Given the description of an element on the screen output the (x, y) to click on. 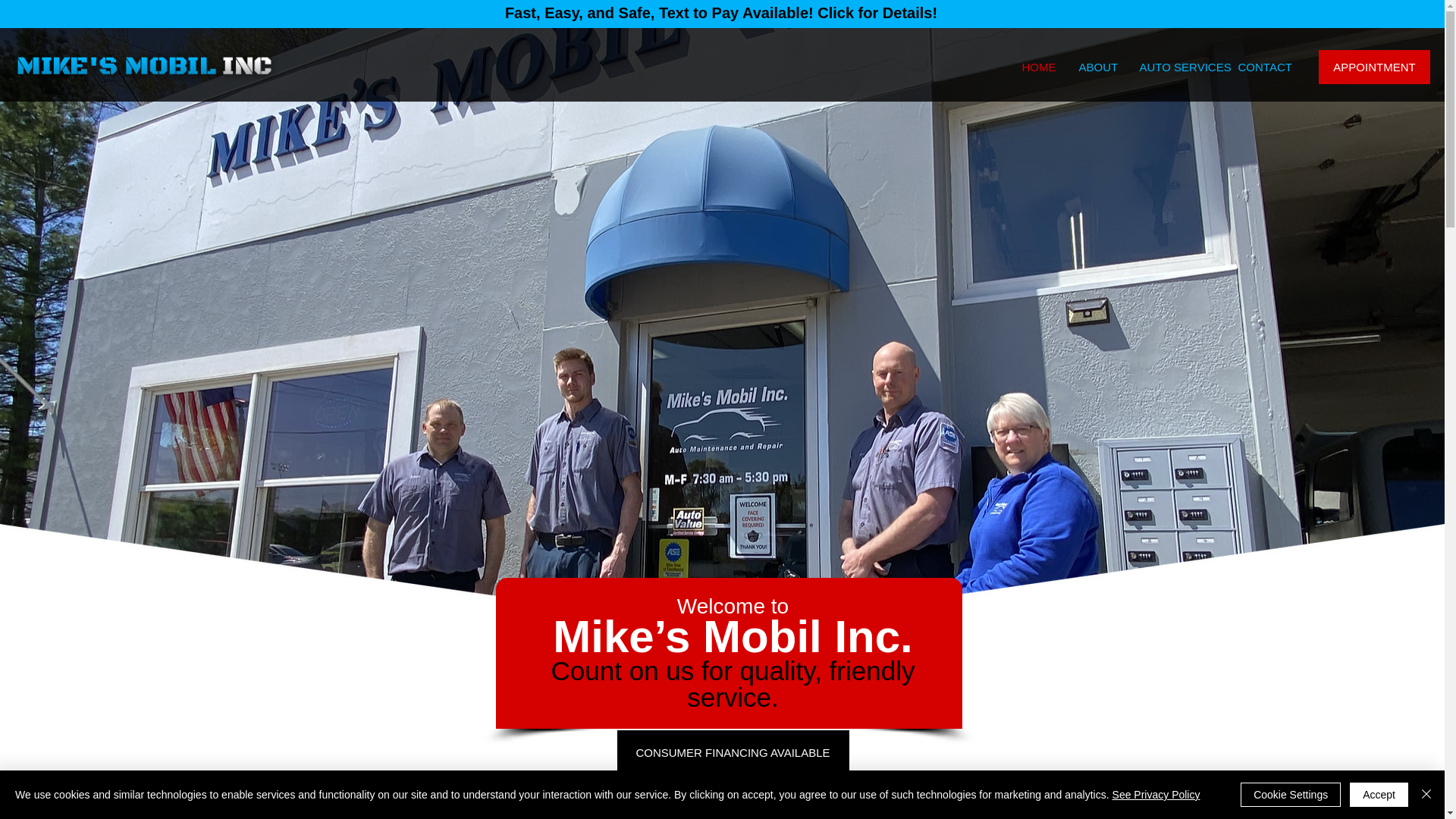
Cookie Settings (1290, 794)
ABOUT (1093, 67)
Accept (1378, 794)
Mike's Mobil Logo (143, 64)
CONSUMER FINANCING AVAILABLE (732, 752)
CONTACT (1258, 67)
AUTO SERVICES (1173, 67)
APPOINTMENT (1374, 66)
HOME (1034, 67)
See Privacy Policy (1155, 794)
